Given the description of an element on the screen output the (x, y) to click on. 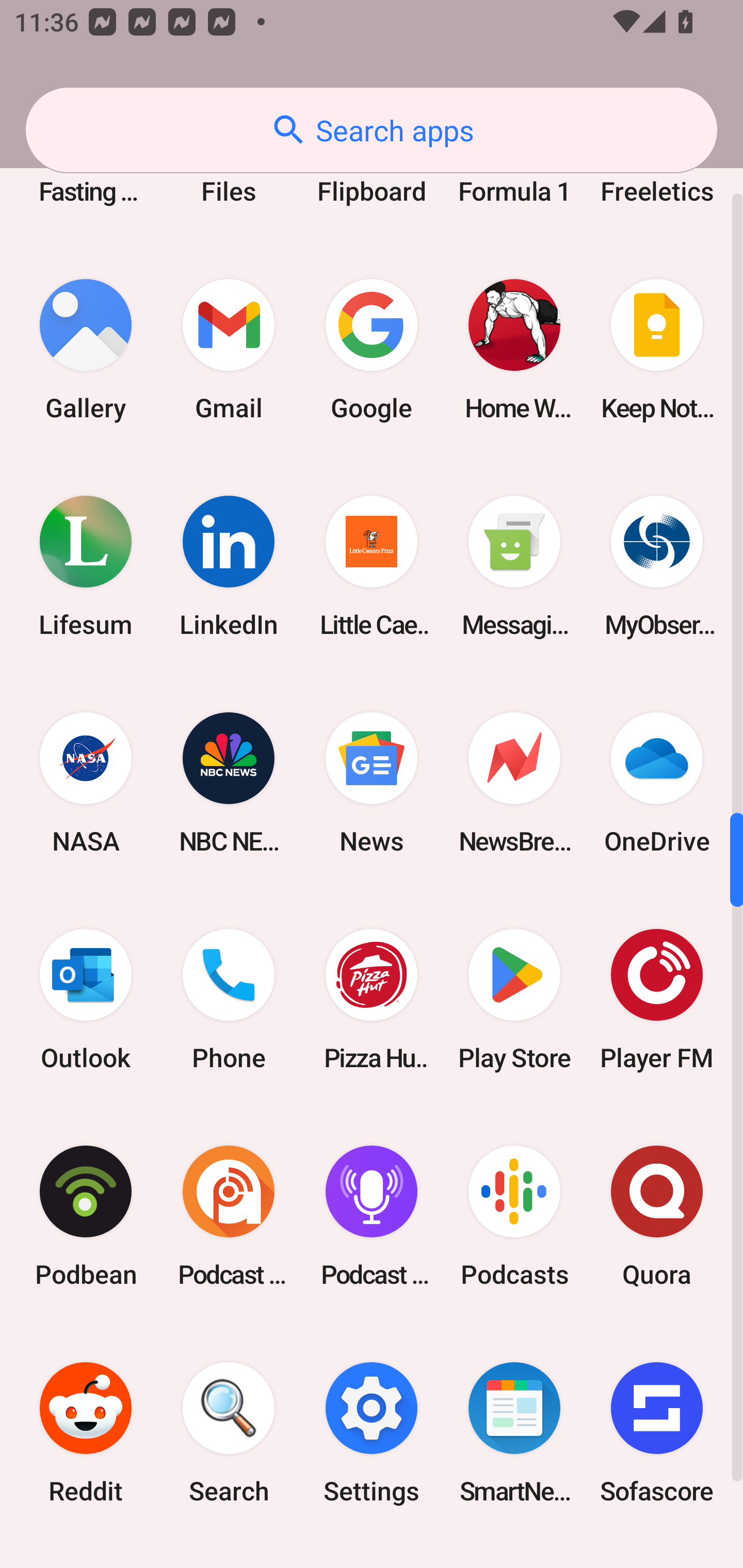
  Search apps (371, 130)
Gallery (85, 349)
Gmail (228, 349)
Google (371, 349)
Home Workout (514, 349)
Keep Notes (656, 349)
Lifesum (85, 565)
LinkedIn (228, 565)
Little Caesars Pizza (371, 565)
Messaging (514, 565)
MyObservatory (656, 565)
NASA (85, 782)
NBC NEWS (228, 782)
News (371, 782)
NewsBreak (514, 782)
OneDrive (656, 782)
Outlook (85, 999)
Phone (228, 999)
Pizza Hut HK & Macau (371, 999)
Play Store (514, 999)
Player FM (656, 999)
Podbean (85, 1216)
Podcast Addict (228, 1216)
Podcast Player (371, 1216)
Podcasts (514, 1216)
Quora (656, 1216)
Reddit (85, 1432)
Search (228, 1432)
Settings (371, 1432)
SmartNews (514, 1432)
Sofascore (656, 1432)
